Given the description of an element on the screen output the (x, y) to click on. 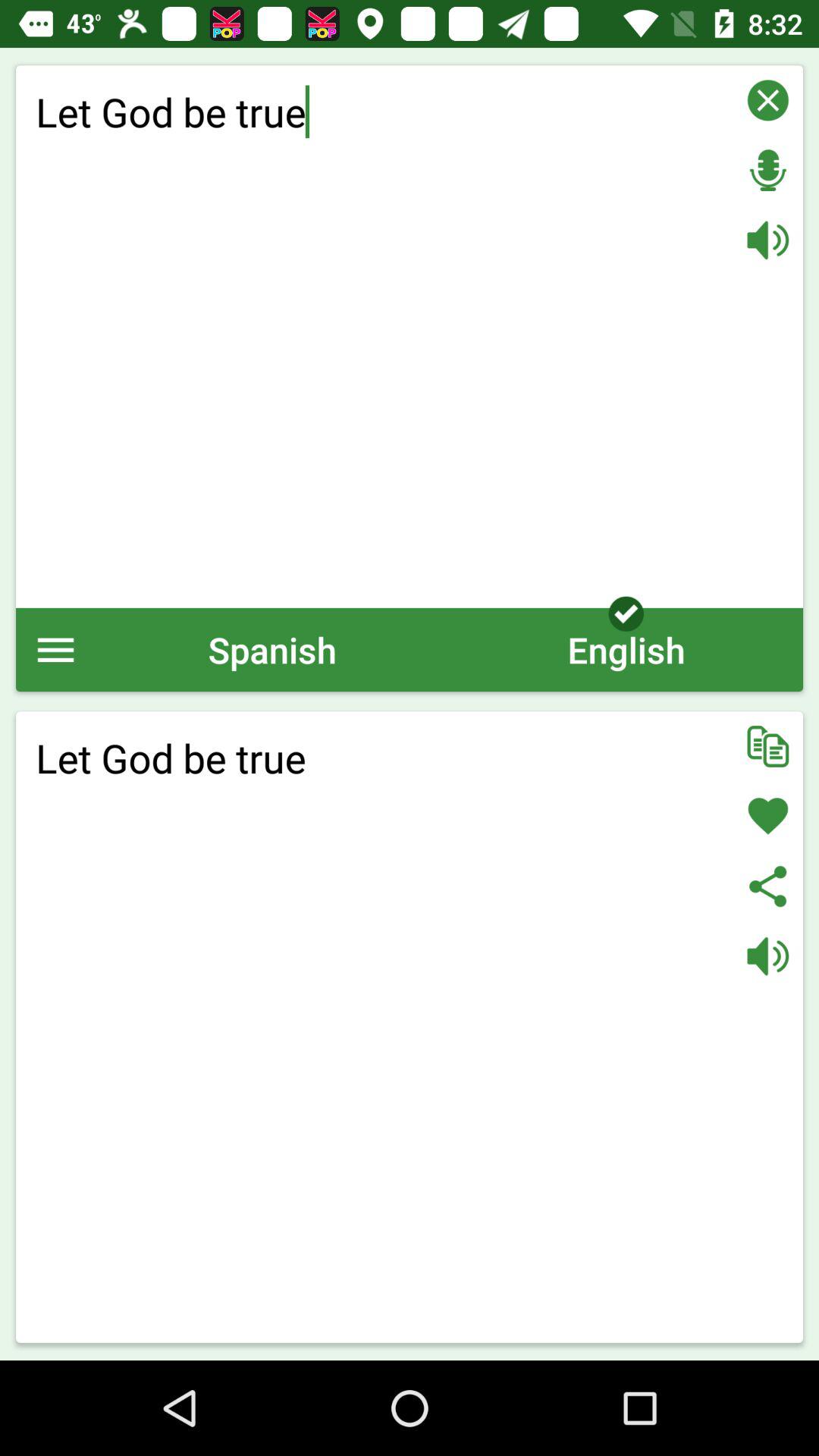
record voice (768, 170)
